Given the description of an element on the screen output the (x, y) to click on. 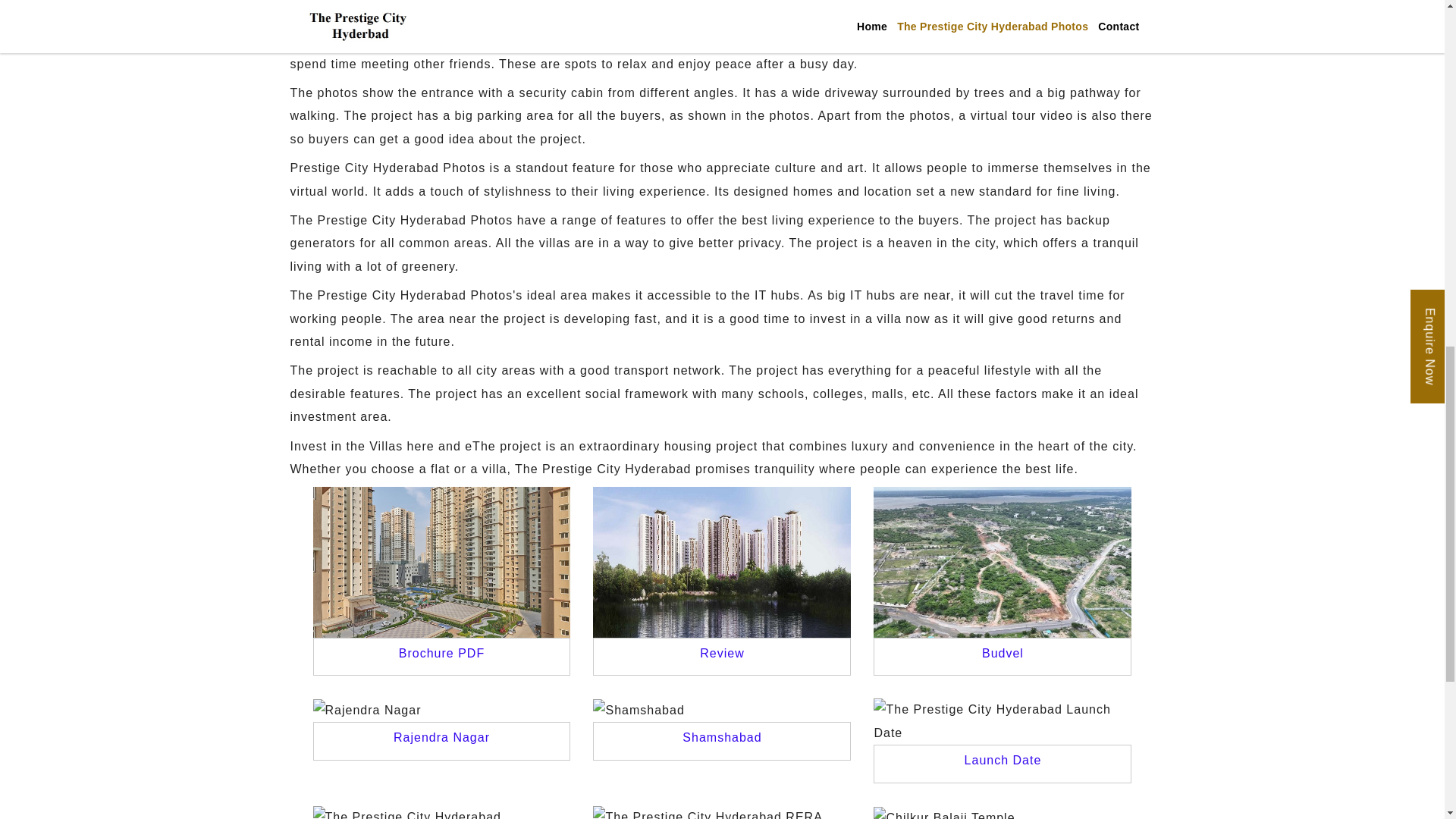
Shamshabad (638, 710)
Review (722, 653)
The Prestige City Hyderabad Brochure PDF (441, 561)
Budvel (1002, 653)
The Prestige City Hyderabad Review (722, 653)
The Prestige City Hyderabad Review (721, 561)
Brochure PDF (441, 653)
Rajendra Nagar  (441, 737)
Launch Date (1002, 759)
Rajendra Nagar  (366, 710)
